Given the description of an element on the screen output the (x, y) to click on. 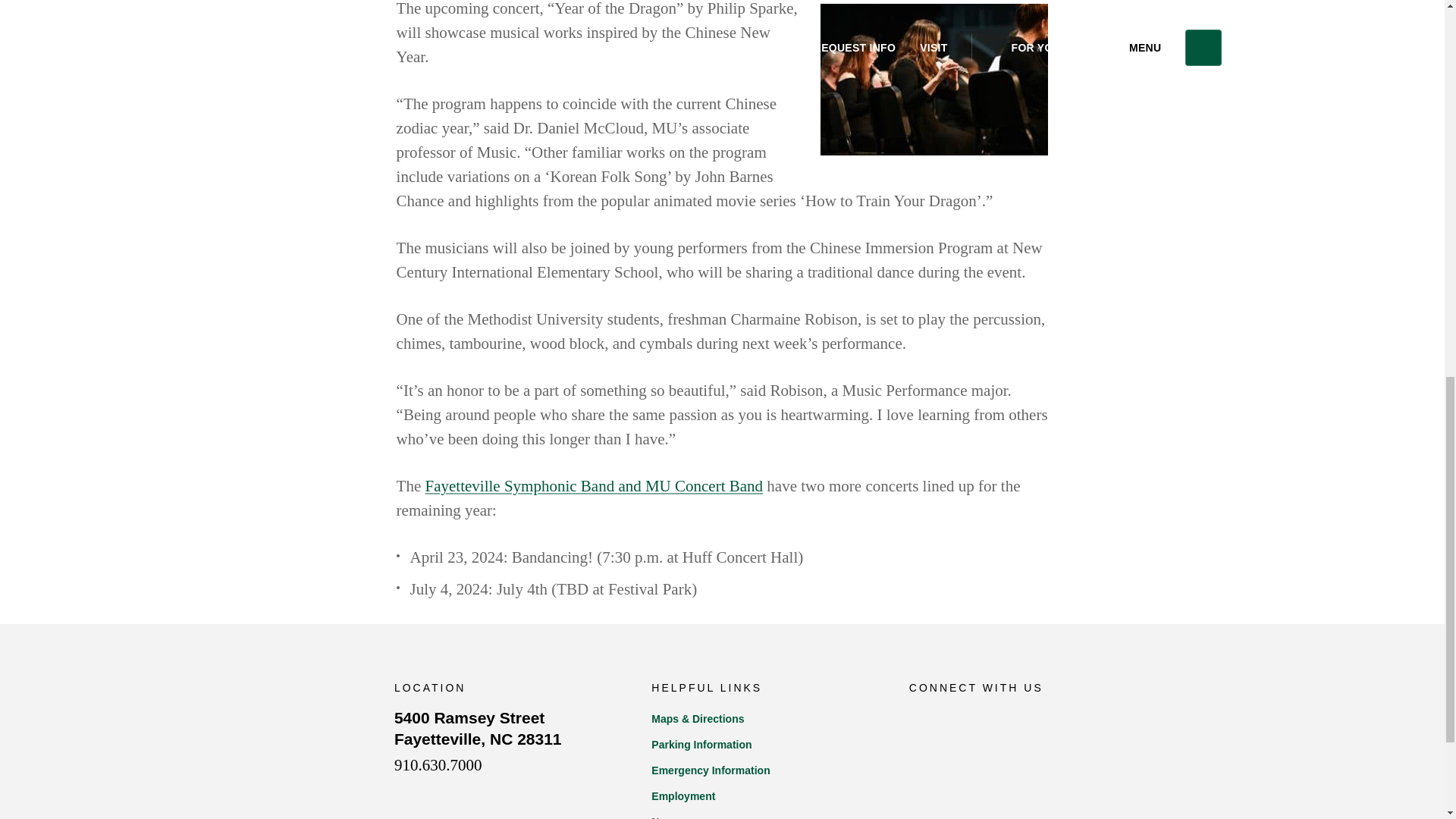
Parking Information (478, 728)
Methodist University (763, 745)
Emergency Information (293, 738)
Employment (763, 770)
Facebook (763, 796)
Twitter (920, 719)
910.630.7000 (960, 720)
Fayetteville Symphonic Band and MU Concert Band (437, 764)
News (593, 485)
